Given the description of an element on the screen output the (x, y) to click on. 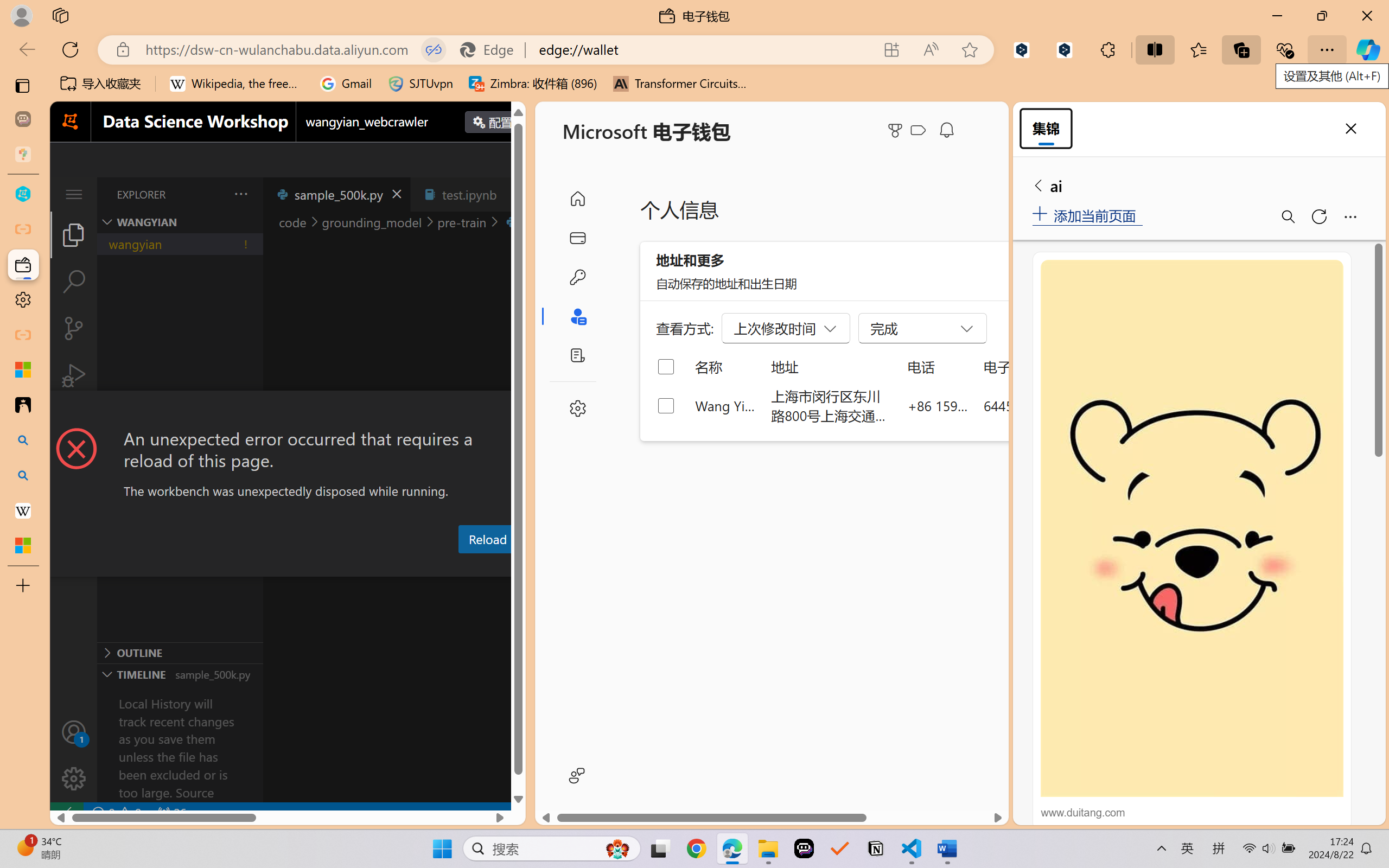
Outline Section (179, 652)
Terminal (Ctrl+`) (553, 565)
Run and Debug (Ctrl+Shift+D) (73, 375)
Reload (486, 538)
